Given the description of an element on the screen output the (x, y) to click on. 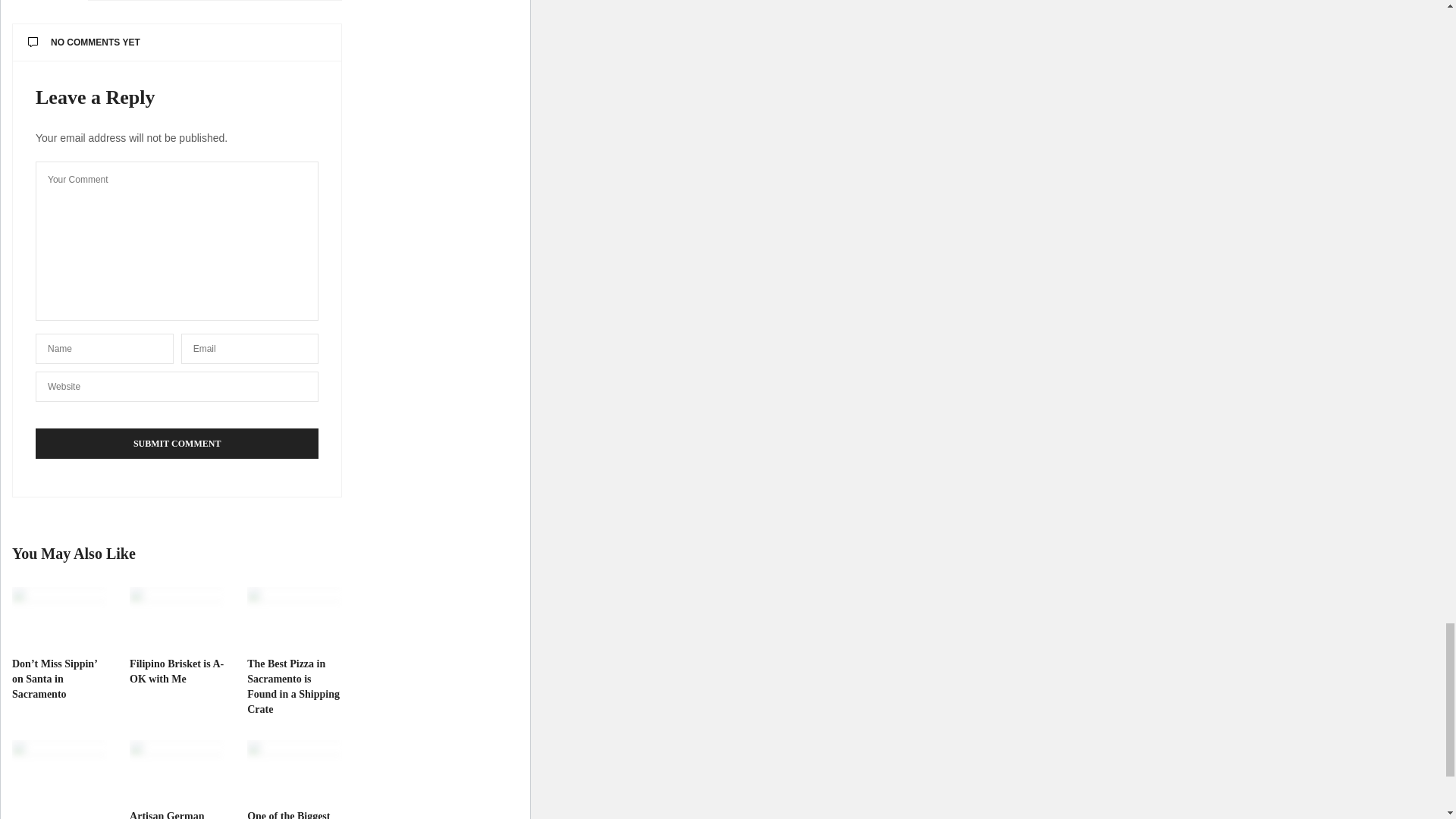
Submit Comment (176, 443)
